Given the description of an element on the screen output the (x, y) to click on. 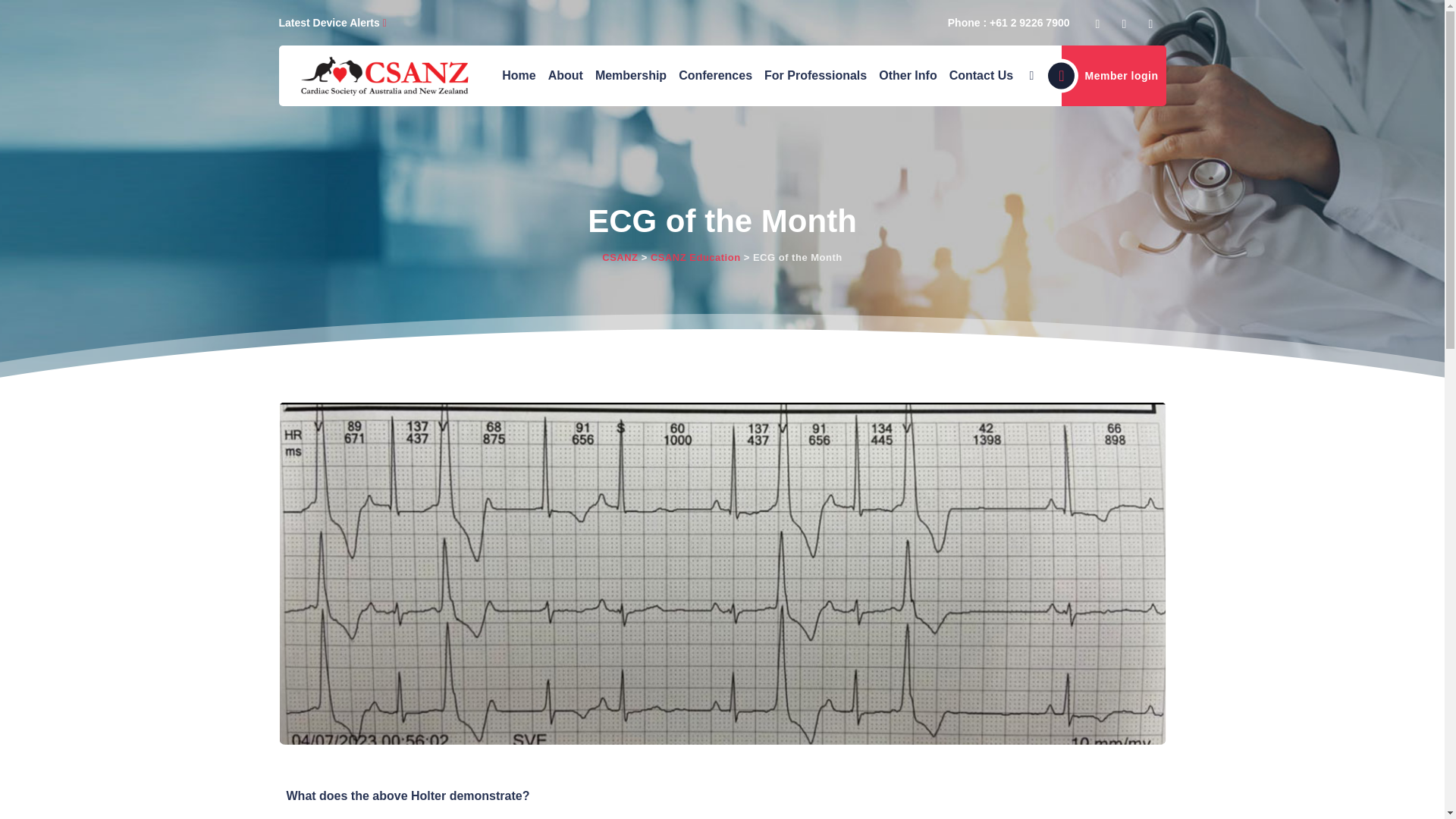
Latest Device Alerts (333, 22)
CSANZ (384, 75)
Membership (630, 75)
Go to the CSANZ Education category archives. (695, 256)
Conferences (715, 75)
Go to CSANZ. (619, 256)
For Professionals (815, 75)
